Given the description of an element on the screen output the (x, y) to click on. 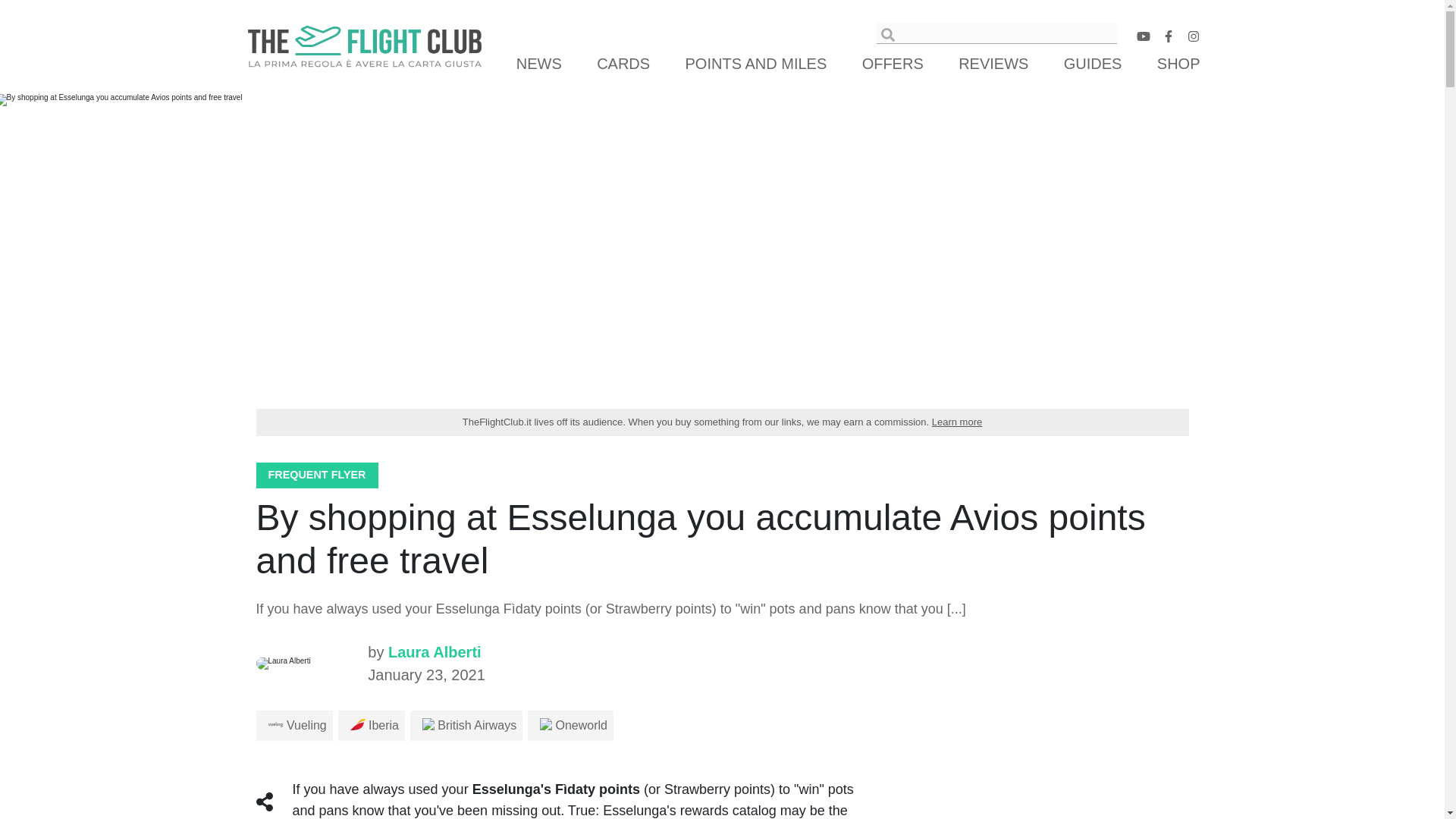
SHOP (1176, 63)
theflightclub.it on YouTube (1142, 40)
POINTS AND MILES (756, 63)
Learn more (956, 421)
British Airways (469, 725)
GUIDES (1092, 63)
OFFERS (893, 63)
InBici on Instagram (1192, 40)
Oneworld (573, 725)
REVIEWS (993, 63)
